Given the description of an element on the screen output the (x, y) to click on. 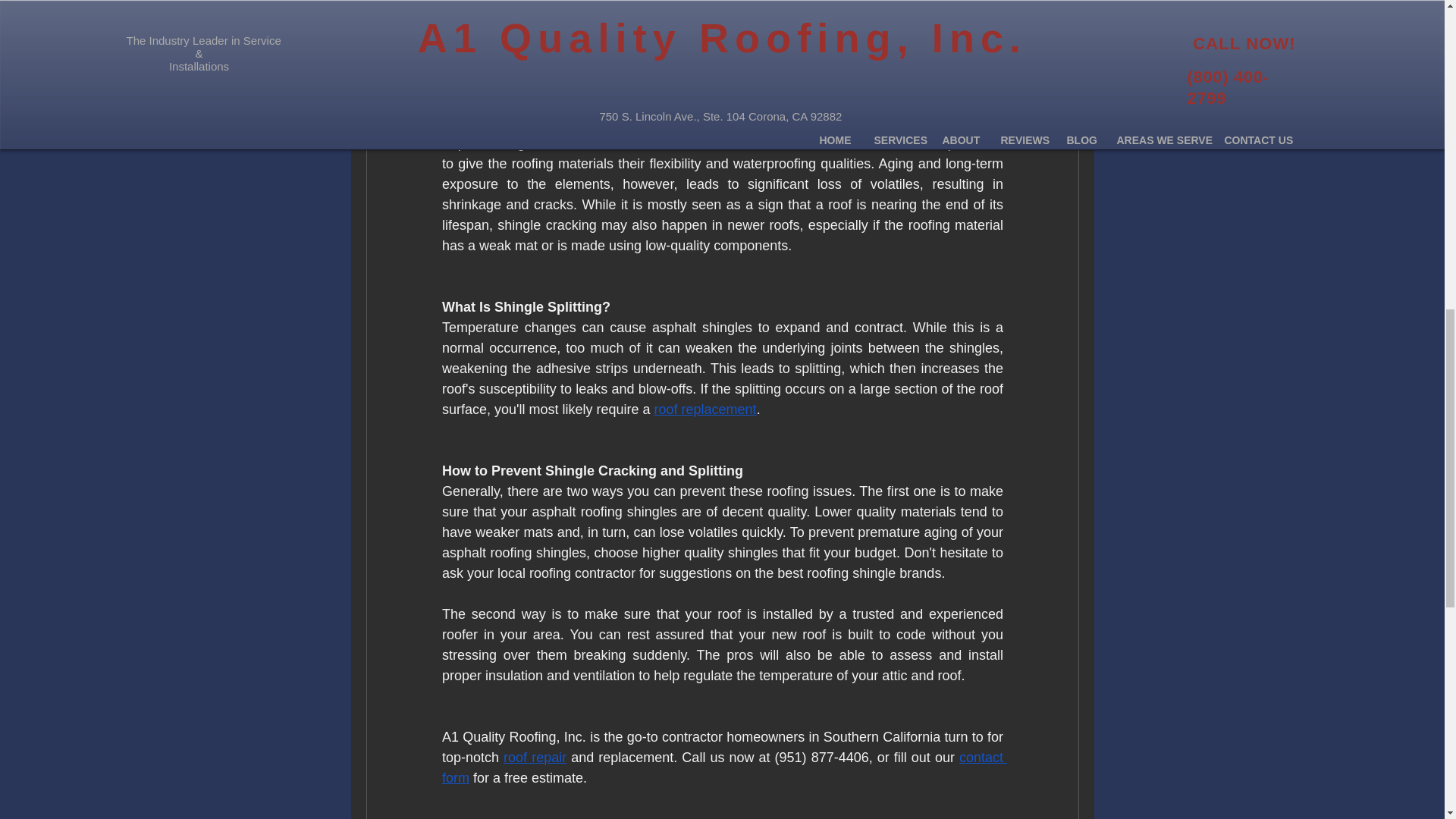
roof replacement (704, 409)
roof repair (534, 757)
contact form (723, 767)
